Given the description of an element on the screen output the (x, y) to click on. 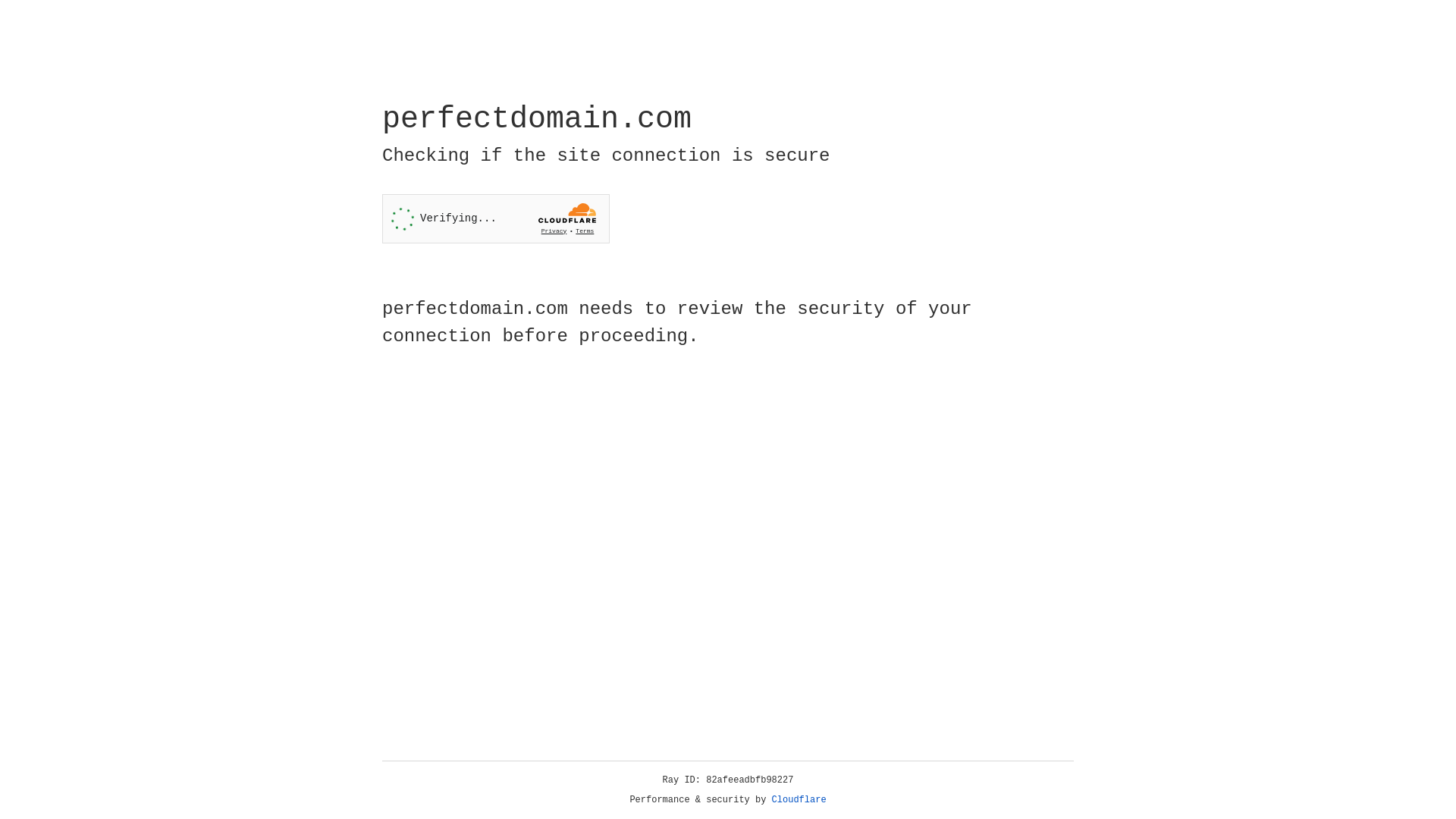
Widget containing a Cloudflare security challenge Element type: hover (495, 218)
Cloudflare Element type: text (798, 799)
